Given the description of an element on the screen output the (x, y) to click on. 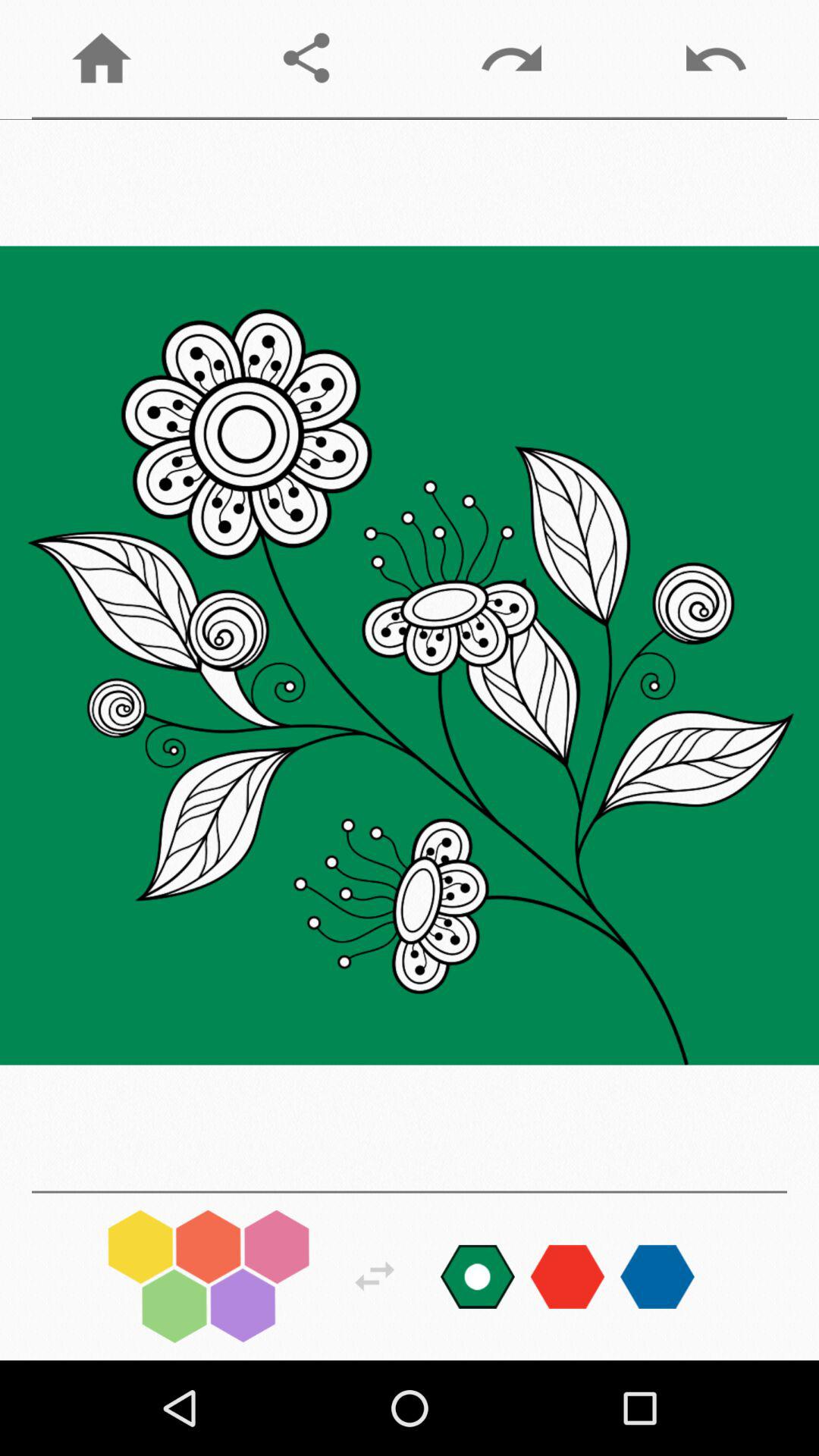
this icon is used to fill the colors in the picture (208, 1276)
